Given the description of an element on the screen output the (x, y) to click on. 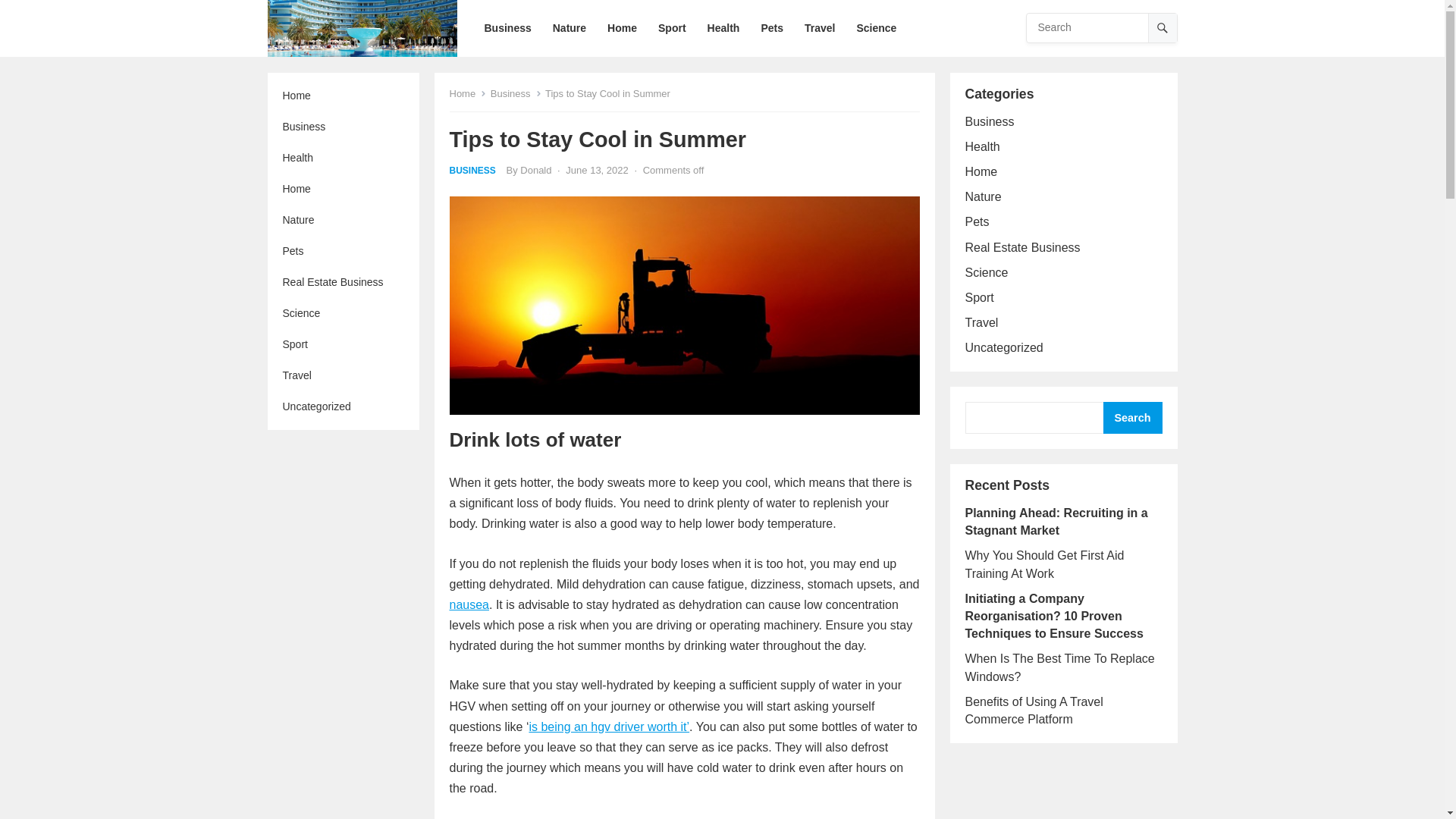
Posts by Donald (535, 170)
nausea (468, 604)
Pets (342, 250)
Science (342, 313)
Home (342, 95)
Sport (342, 344)
Real Estate Business (342, 282)
Home (467, 93)
Uncategorized (342, 406)
Health (342, 157)
